Given the description of an element on the screen output the (x, y) to click on. 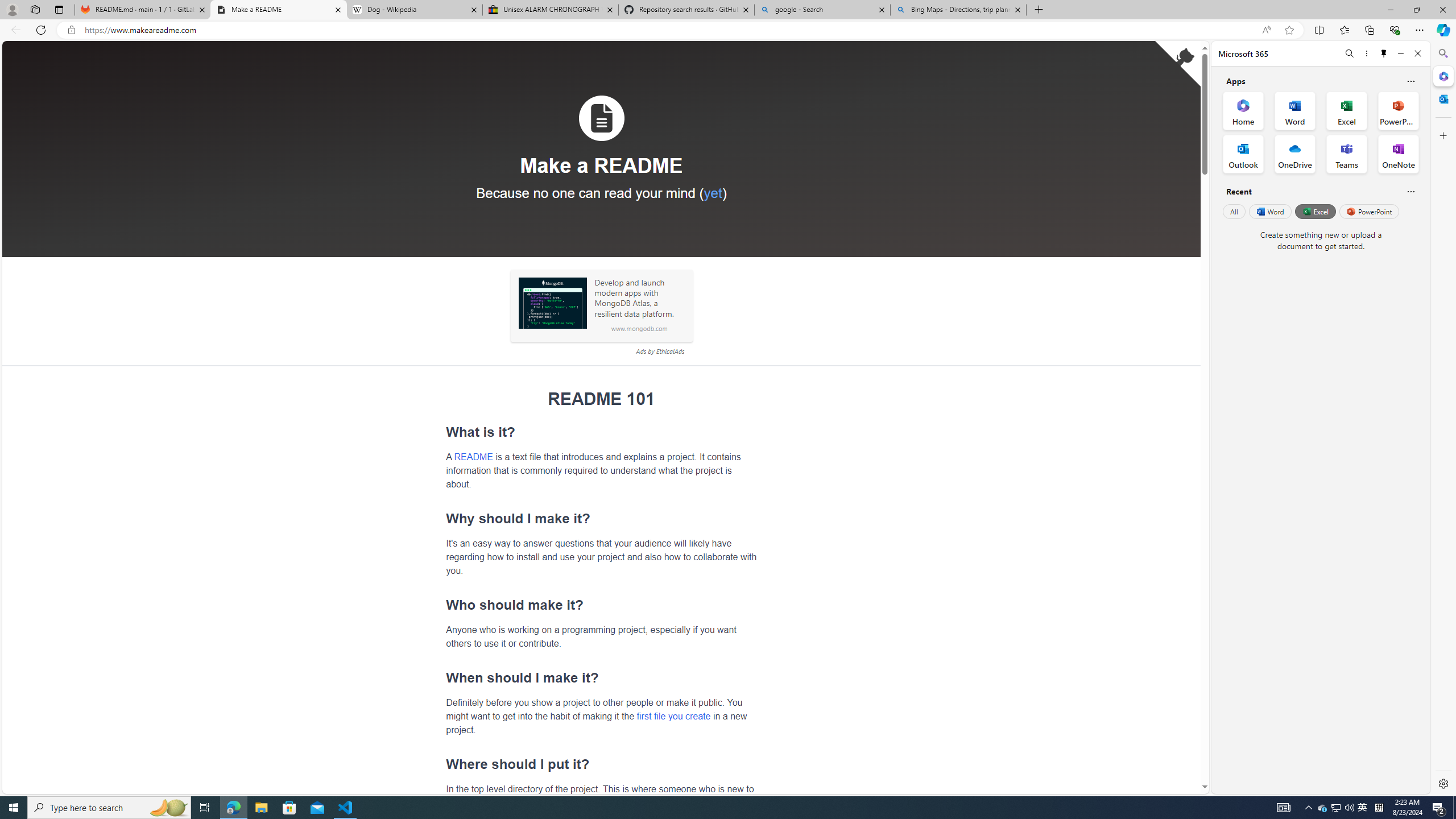
Excel Office App (1346, 110)
Make a README (277, 9)
Dog - Wikipedia (414, 9)
Anchor (440, 764)
